Given the description of an element on the screen output the (x, y) to click on. 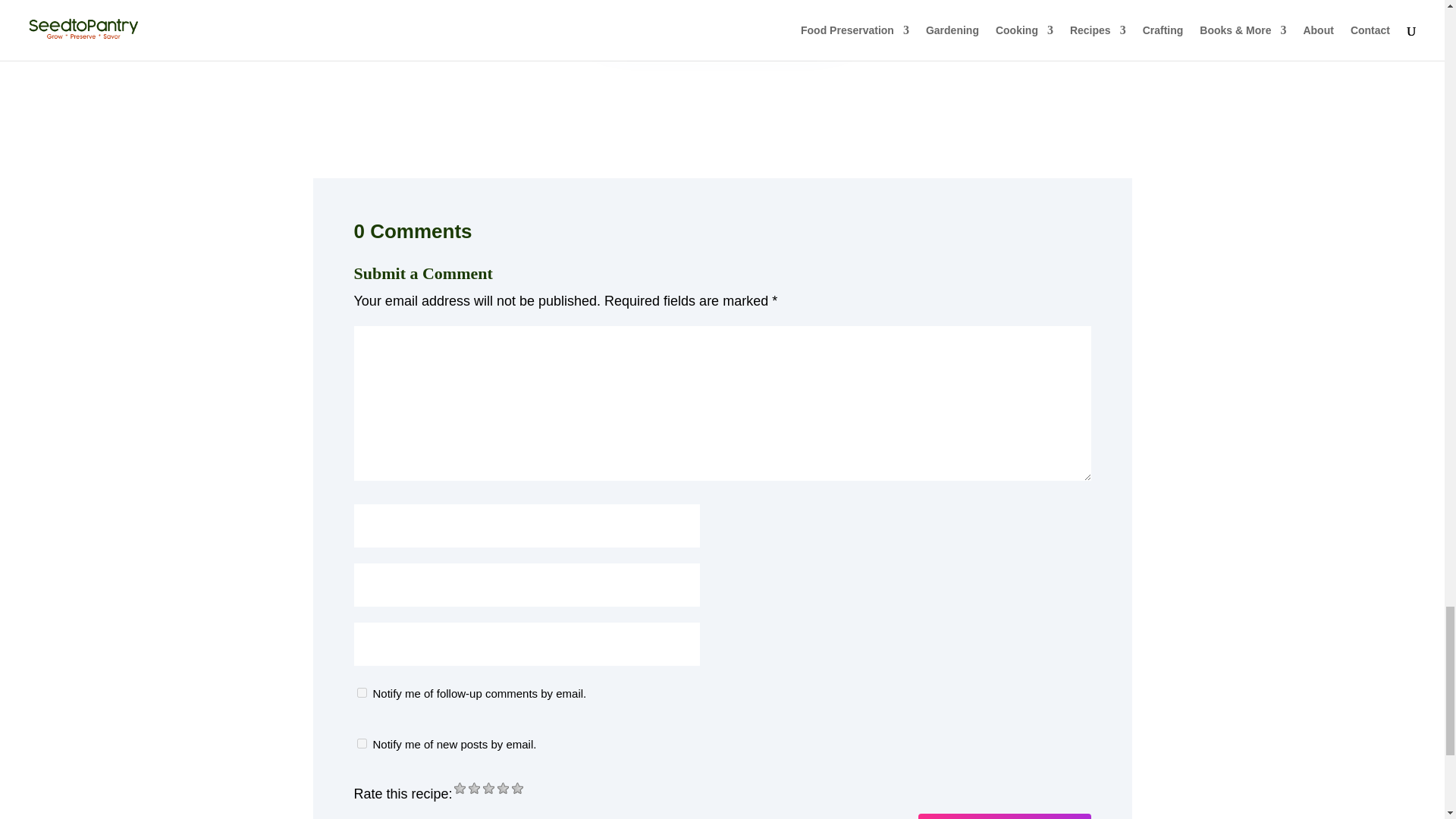
subscribe (361, 692)
subscribe (361, 743)
